Given the description of an element on the screen output the (x, y) to click on. 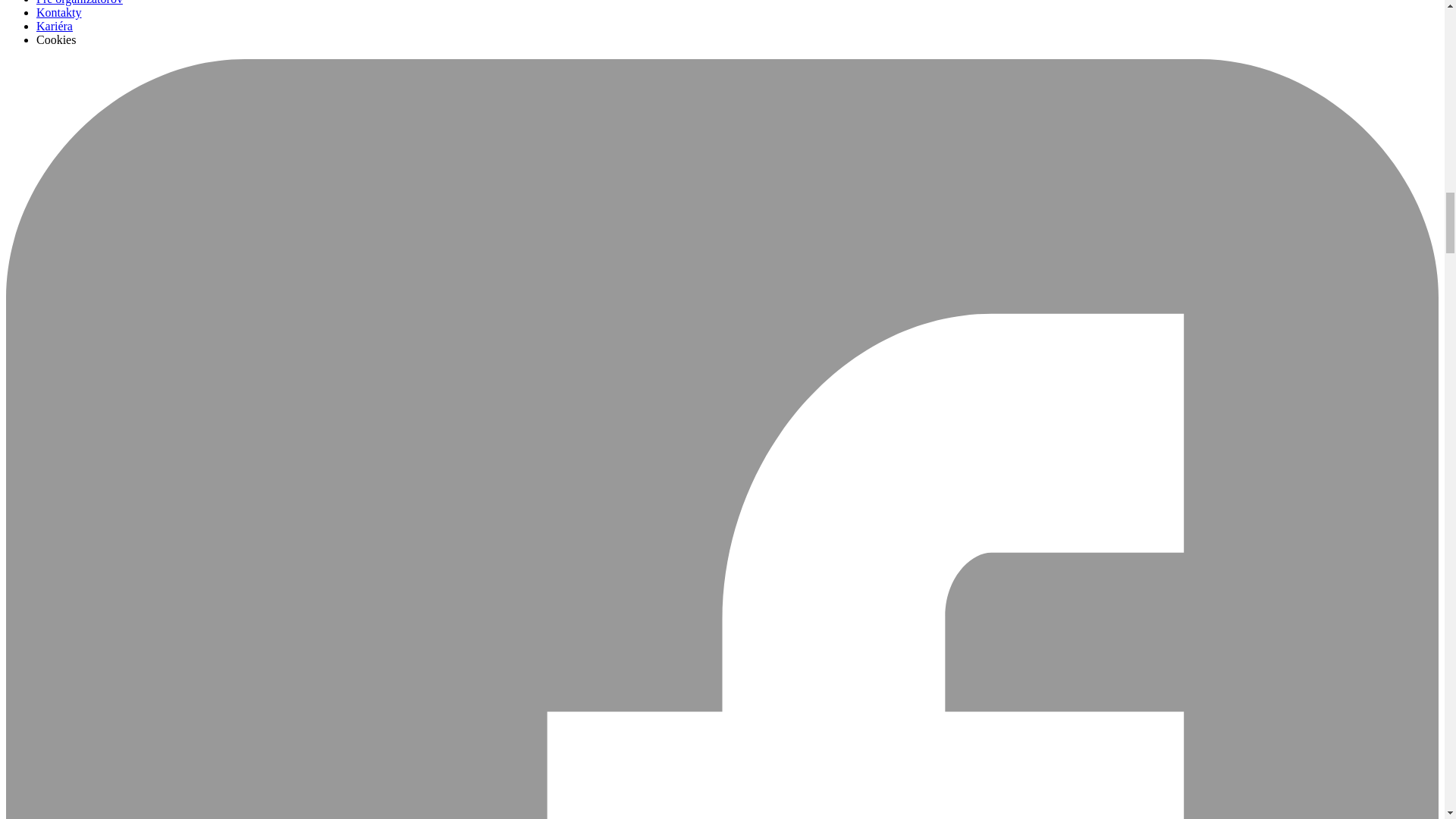
Kontakty (58, 11)
